Given the description of an element on the screen output the (x, y) to click on. 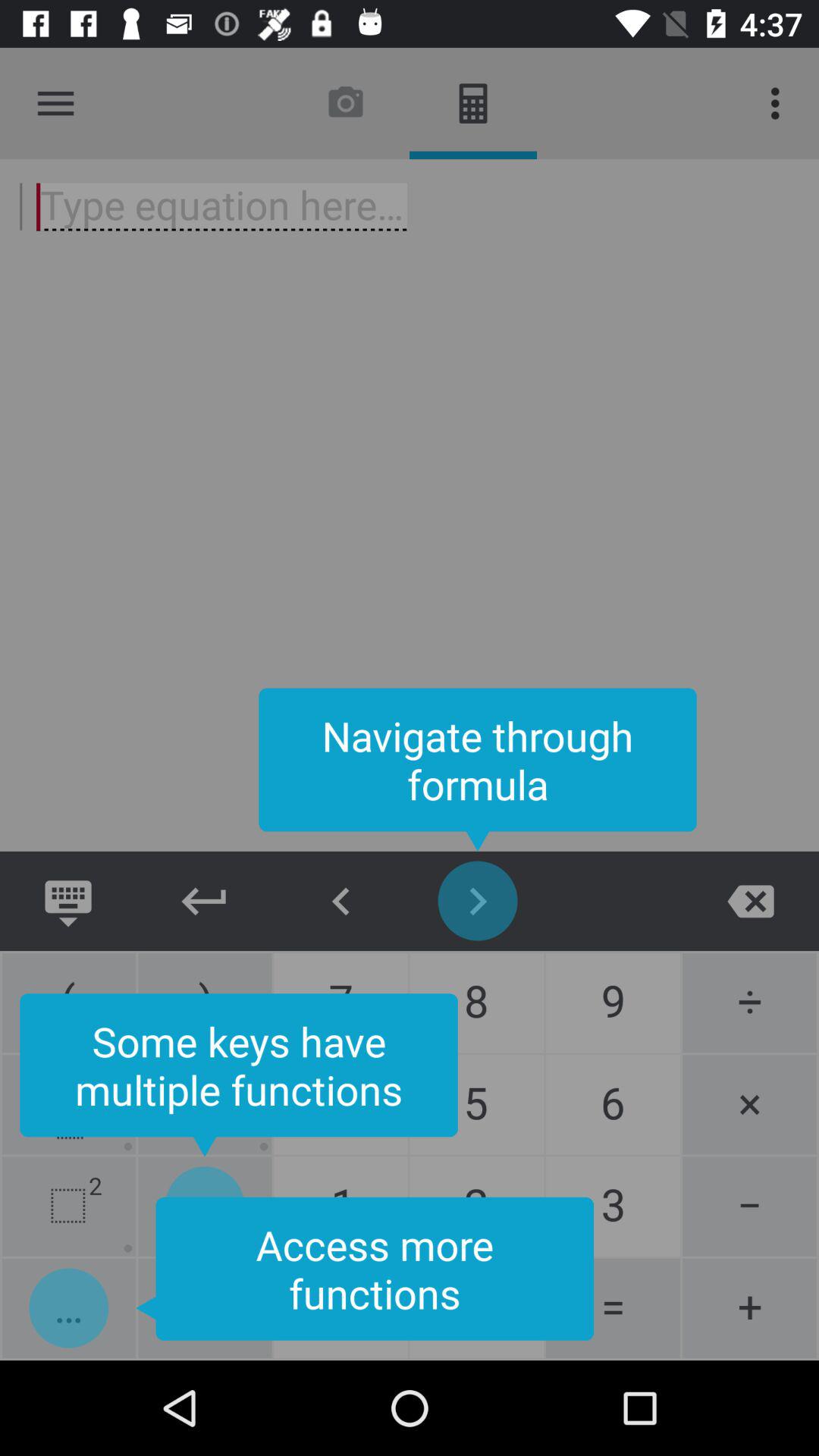
this button is use to navigate through formula (477, 900)
